Given the description of an element on the screen output the (x, y) to click on. 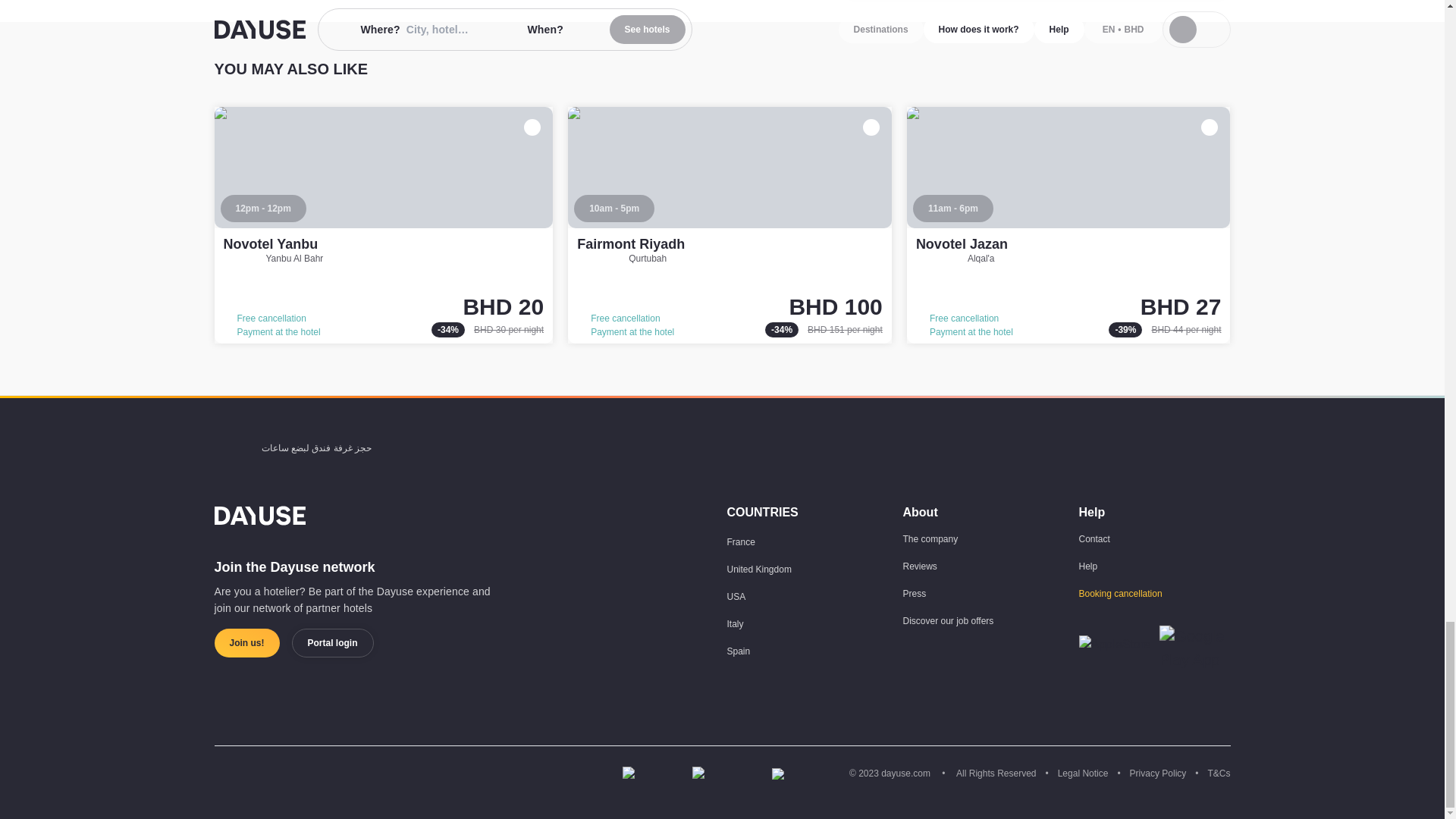
Fairmont Riyadh (630, 243)
Novotel Jazan (1068, 225)
Novotel Yanbu (383, 225)
Fairmont Riyadh (729, 225)
Novotel Jazan (961, 243)
Novotel Yanbu (269, 243)
